Given the description of an element on the screen output the (x, y) to click on. 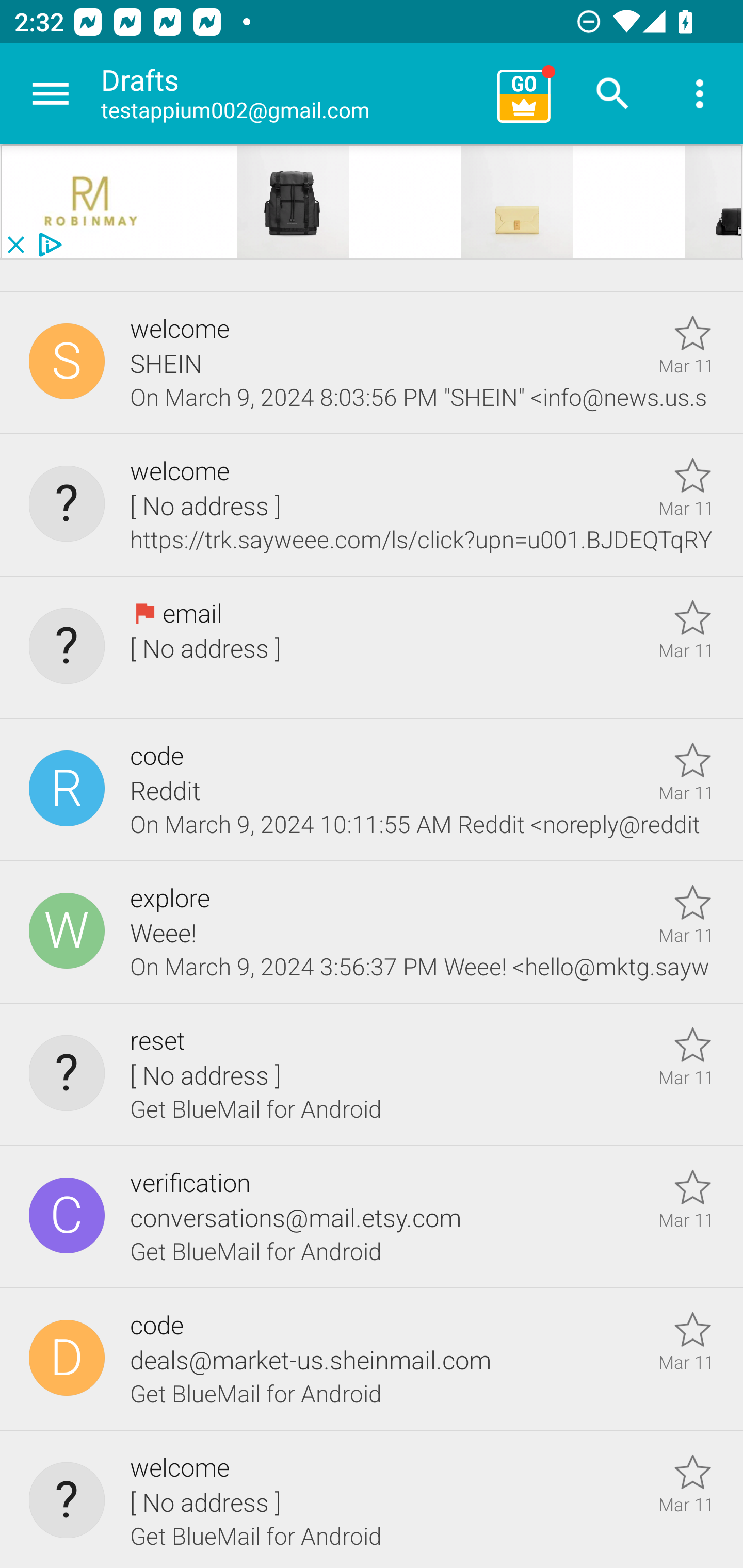
Navigate up (50, 93)
Drafts testappium002@gmail.com (291, 93)
Search (612, 93)
More options (699, 93)
   (91, 202)
   (293, 202)
   (517, 202)
close_button (14, 245)
privacy_small (47, 245)
email, [ No address ], Mar 11 (371, 648)
